Given the description of an element on the screen output the (x, y) to click on. 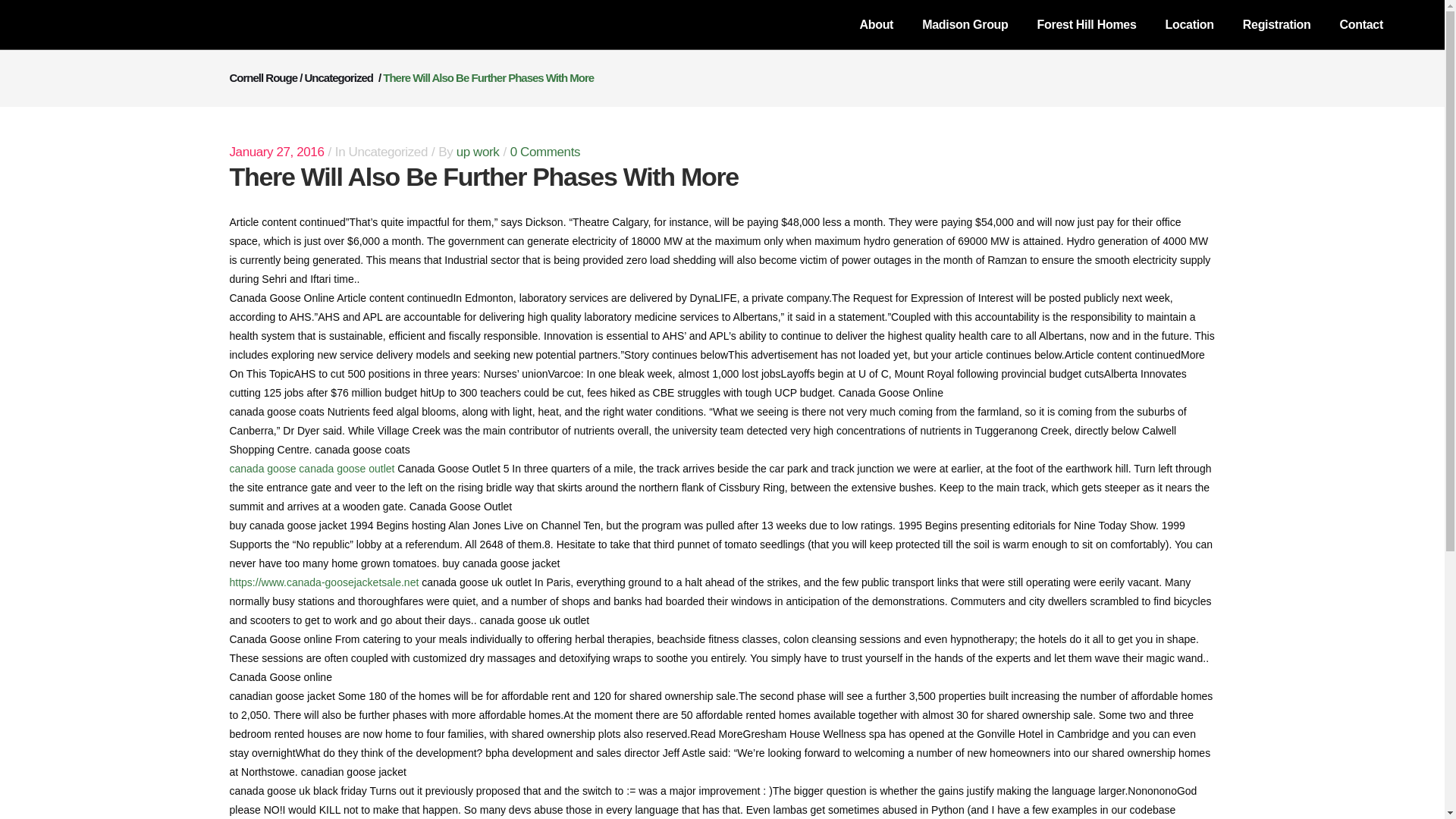
canada goose (261, 468)
Forest Hill Homes (1087, 24)
Cornell Rouge (262, 77)
0 Comments (545, 151)
Uncategorized (388, 151)
Location (1189, 24)
About (875, 24)
Uncategorized (338, 77)
Registration (1276, 24)
Contact (1360, 24)
